Given the description of an element on the screen output the (x, y) to click on. 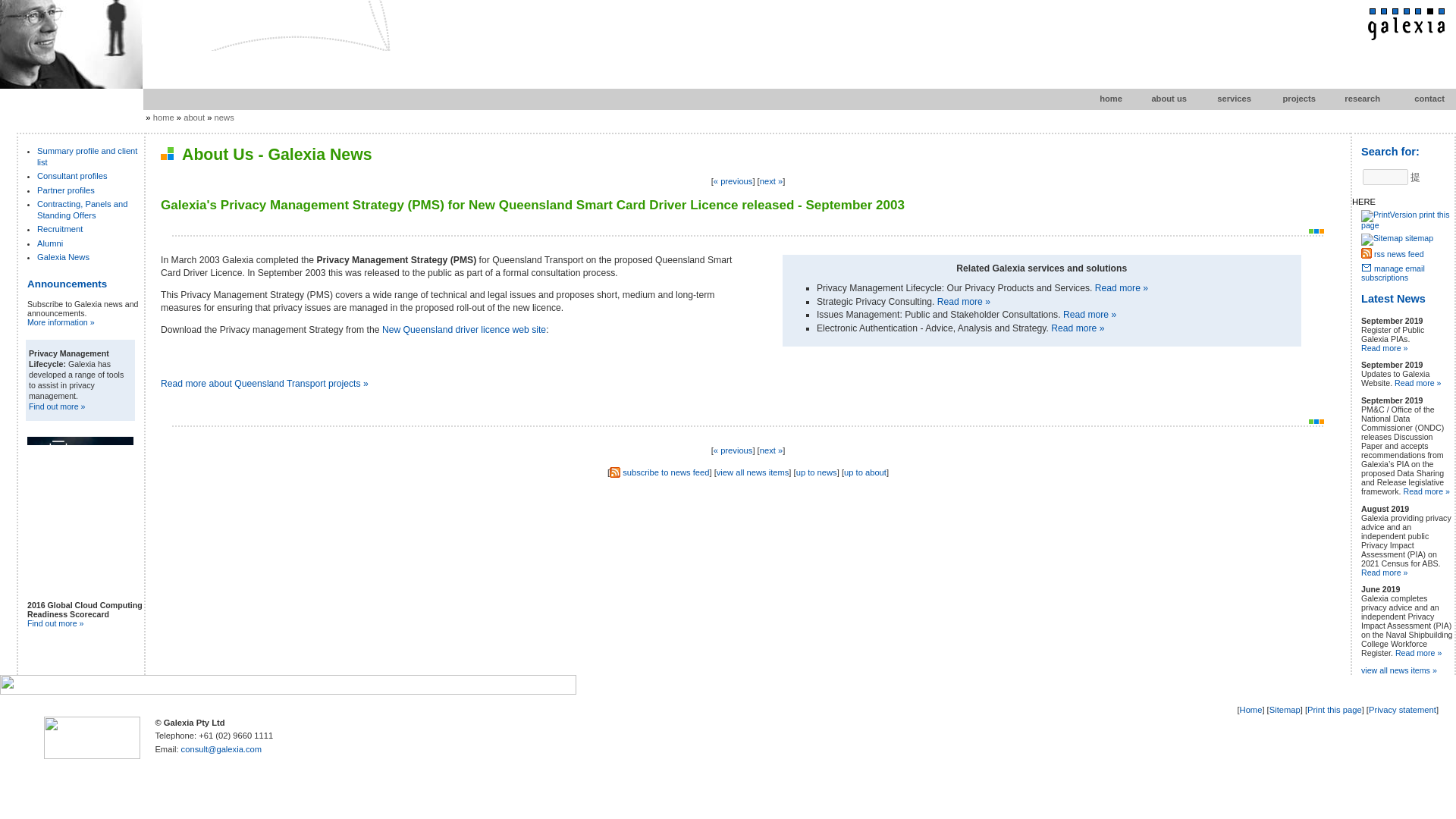
Galexia News (62, 256)
print this page (1404, 219)
Consultant profiles (72, 175)
          contact (1417, 98)
up to news (816, 471)
up to about (865, 471)
Partner profiles (65, 189)
             home (1095, 98)
Recruitment (59, 228)
Alumni (49, 243)
        services (1224, 98)
New Queensland driver licence web site (463, 329)
home (163, 117)
subscribe to news feed (666, 471)
Announcements (66, 283)
